Given the description of an element on the screen output the (x, y) to click on. 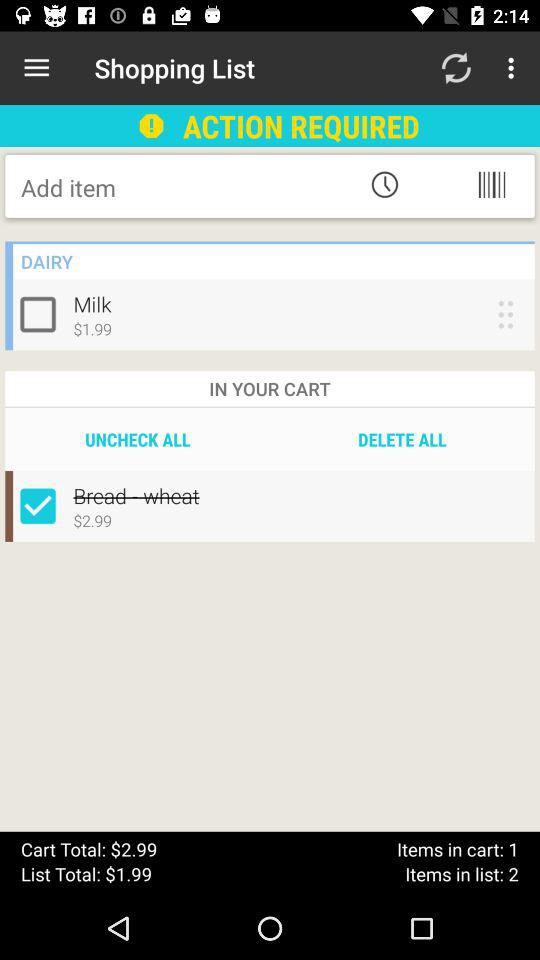
include milk (41, 314)
